Given the description of an element on the screen output the (x, y) to click on. 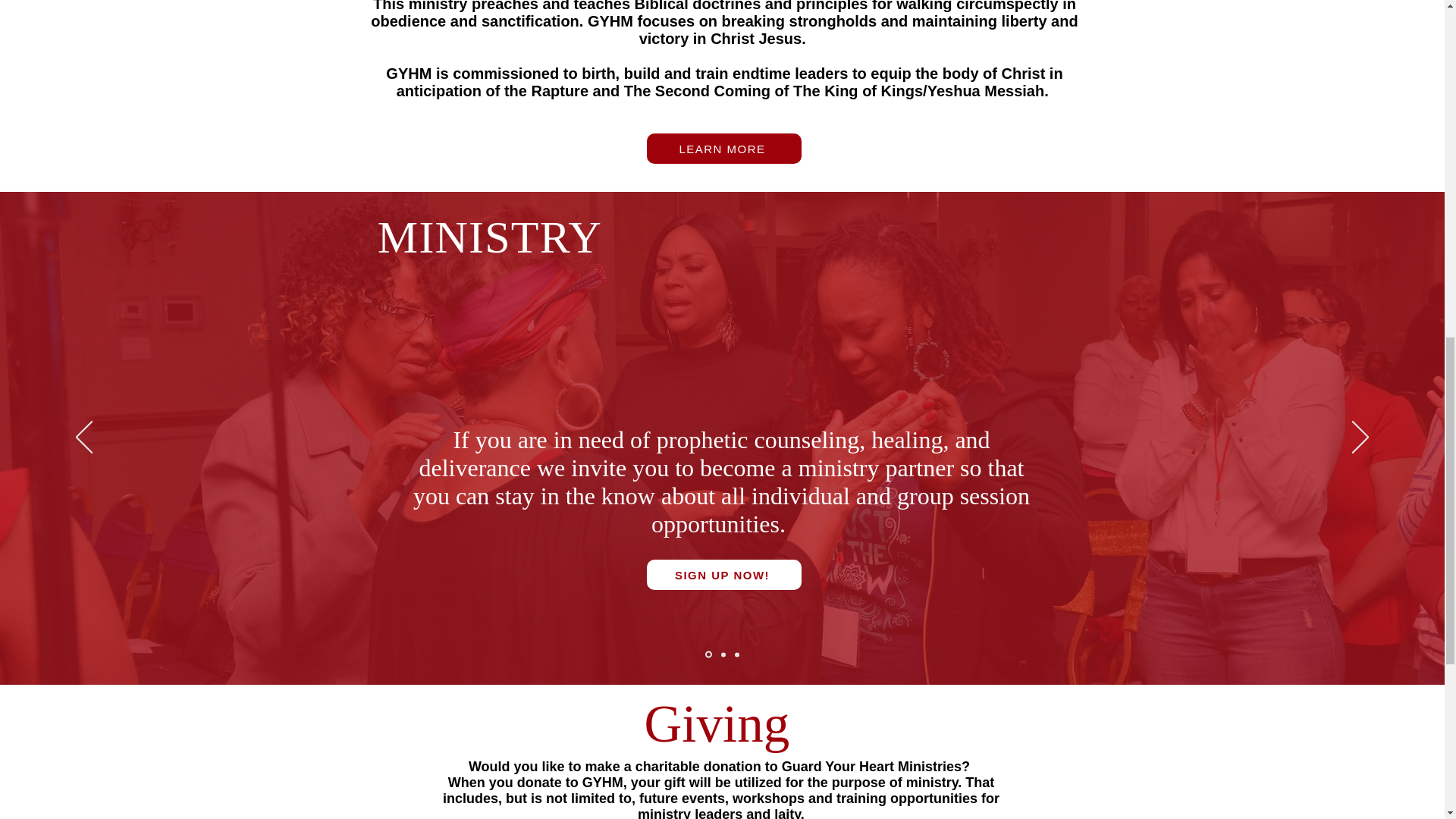
SIGN UP NOW! (723, 574)
LEARN MORE (723, 148)
